Given the description of an element on the screen output the (x, y) to click on. 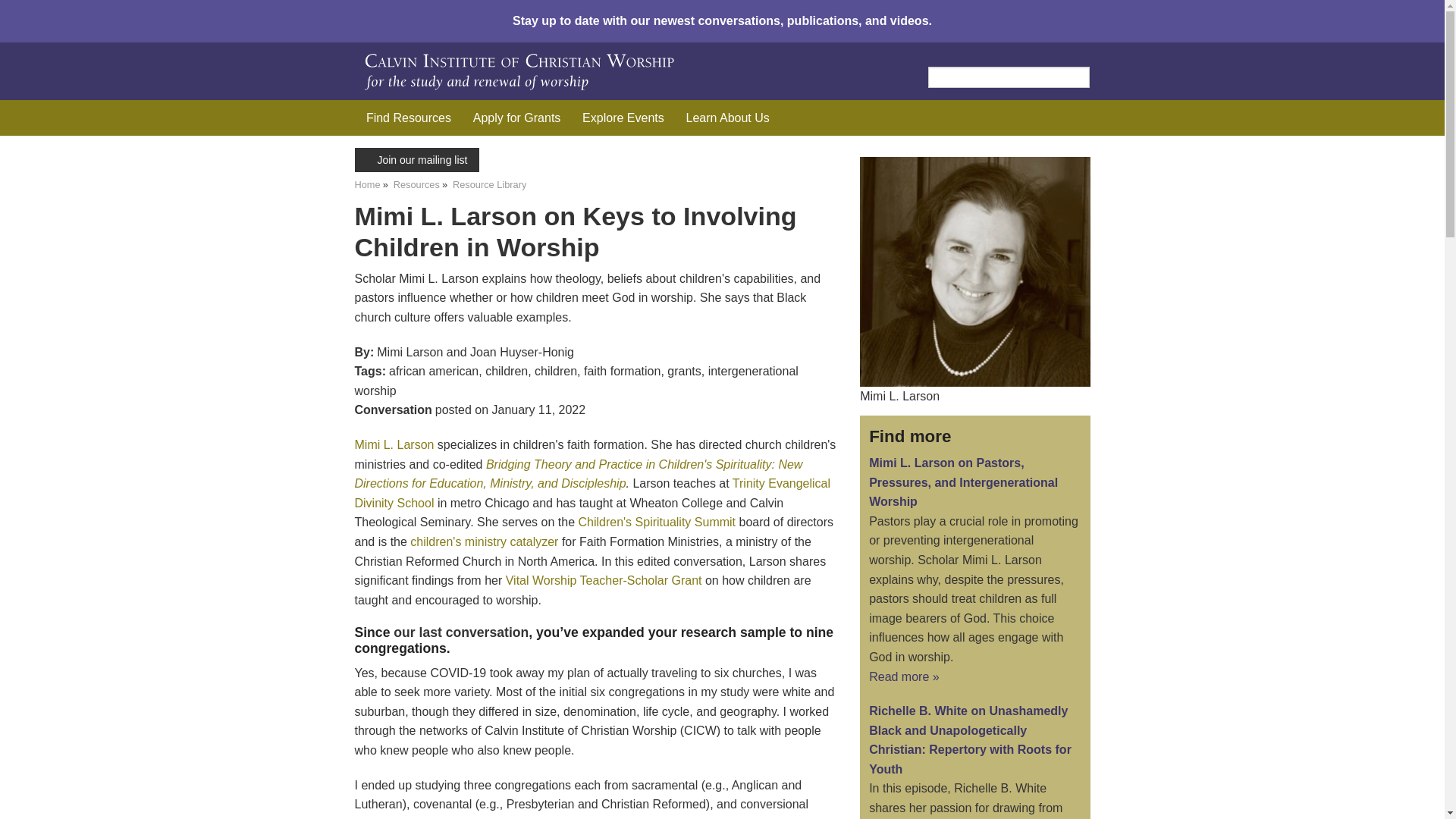
Calvin Institute of Christian Worship (583, 70)
Find Resources (408, 117)
Apply for Grants (515, 117)
Read more... (970, 739)
Read more... (963, 481)
Click to read more (904, 676)
